Given the description of an element on the screen output the (x, y) to click on. 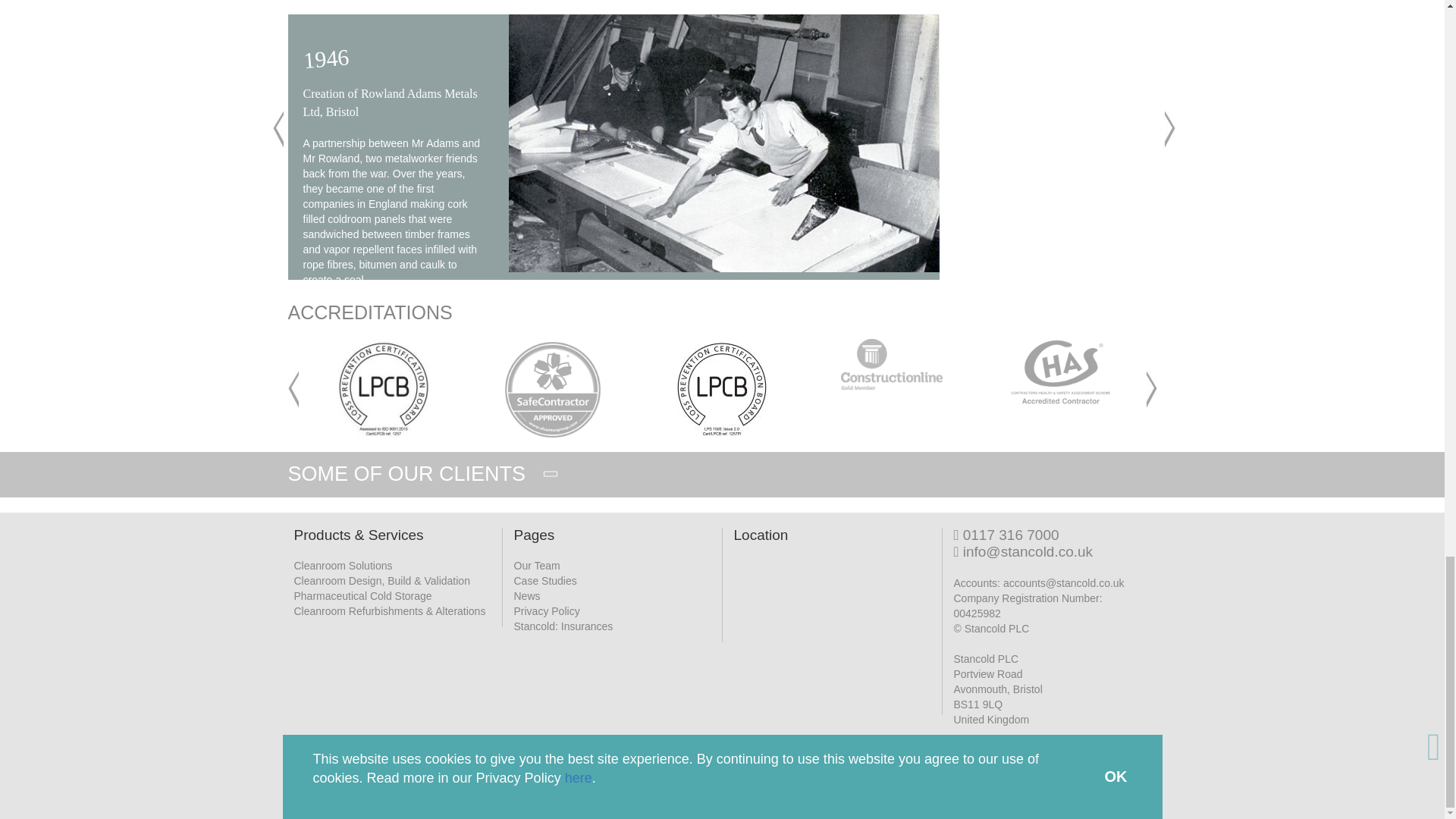
Case Studies (544, 578)
Pharmaceutical Cold Storage (363, 593)
Cleanroom Solutions (343, 563)
News (526, 593)
Our Team (536, 563)
